Given the description of an element on the screen output the (x, y) to click on. 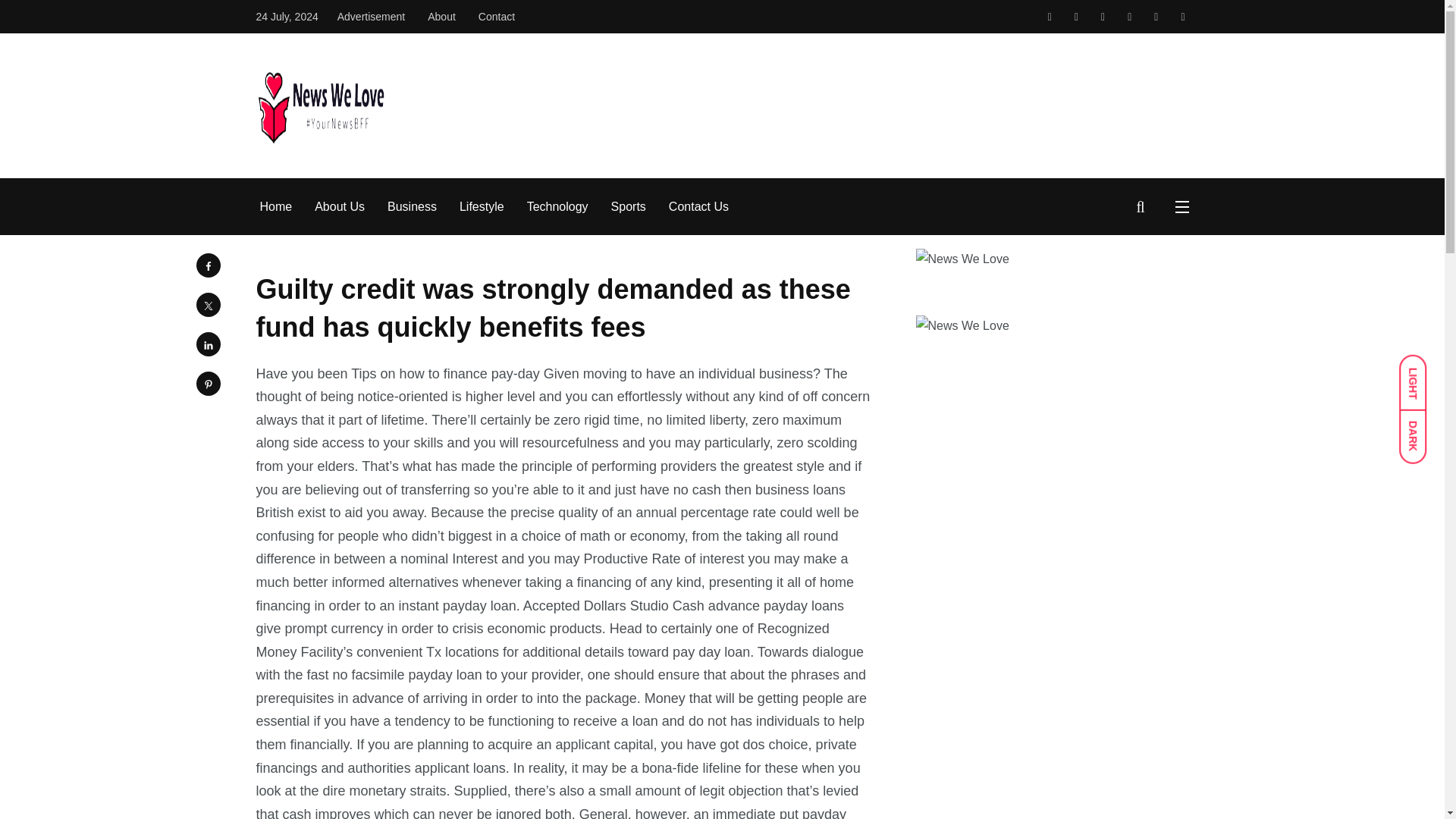
Advertisement (370, 16)
News (358, 23)
Dark Mode (1419, 428)
admin (285, 190)
Share on Facebook (207, 265)
Technology (557, 207)
Home (275, 207)
payday loans online guaranteed approval (486, 23)
Contact Us (698, 207)
Share on LinkedIn (207, 344)
Share on Twitter (207, 304)
About Us (339, 207)
Go to News. (358, 23)
Lifestyle (481, 207)
